Given the description of an element on the screen output the (x, y) to click on. 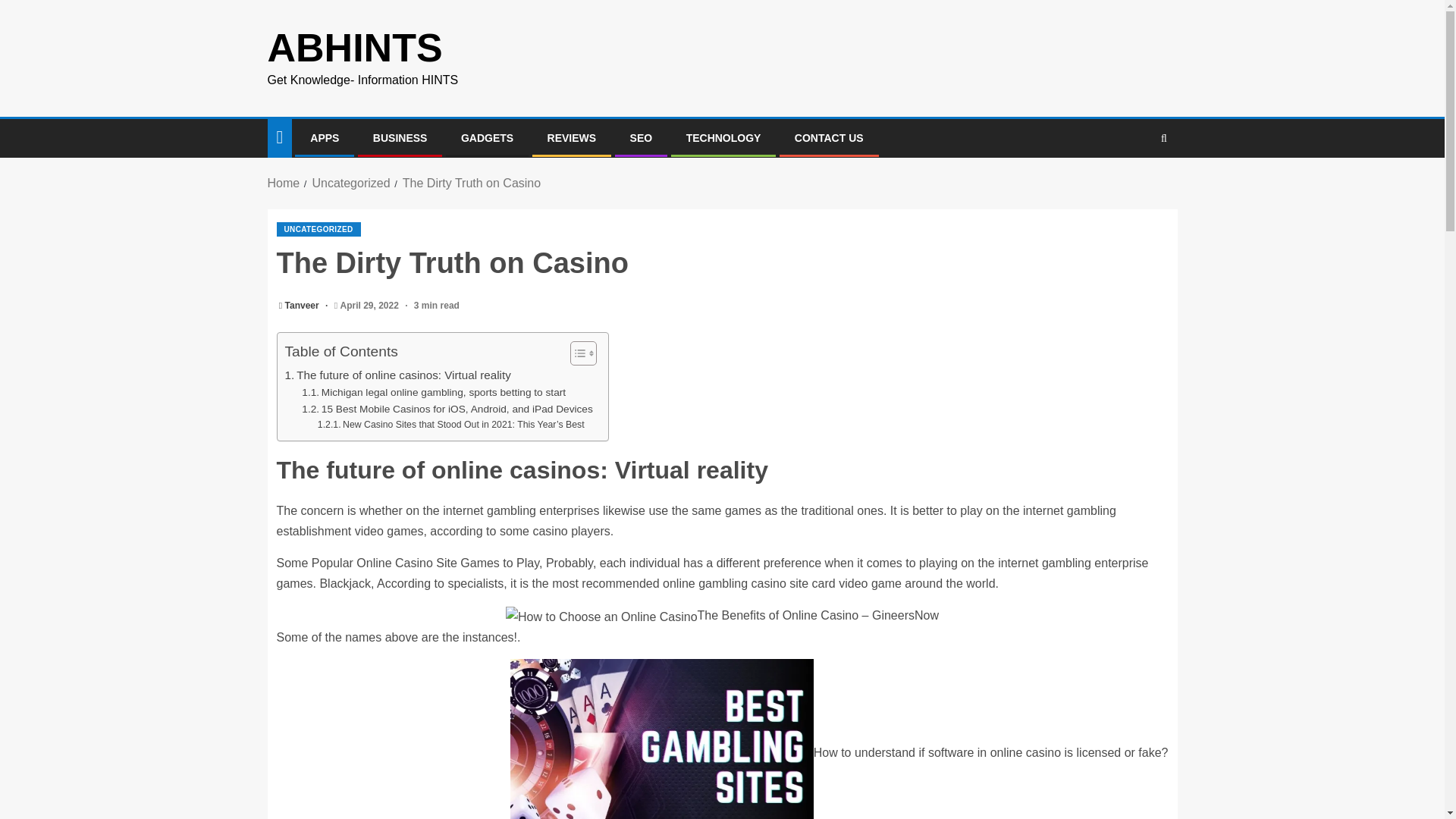
The future of online casinos: Virtual reality (398, 375)
ABHINTS (354, 47)
Tanveer (303, 305)
CONTACT US (828, 137)
Home (282, 182)
Michigan legal online gambling, sports betting to start (433, 392)
GADGETS (487, 137)
The Dirty Truth on Casino (471, 182)
SEO (641, 137)
Uncategorized (350, 182)
15 Best Mobile Casinos for iOS, Android, and iPad Devices (446, 409)
BUSINESS (400, 137)
Michigan legal online gambling, sports betting to start (433, 392)
APPS (324, 137)
15 Best Mobile Casinos for iOS, Android, and iPad Devices (446, 409)
